Given the description of an element on the screen output the (x, y) to click on. 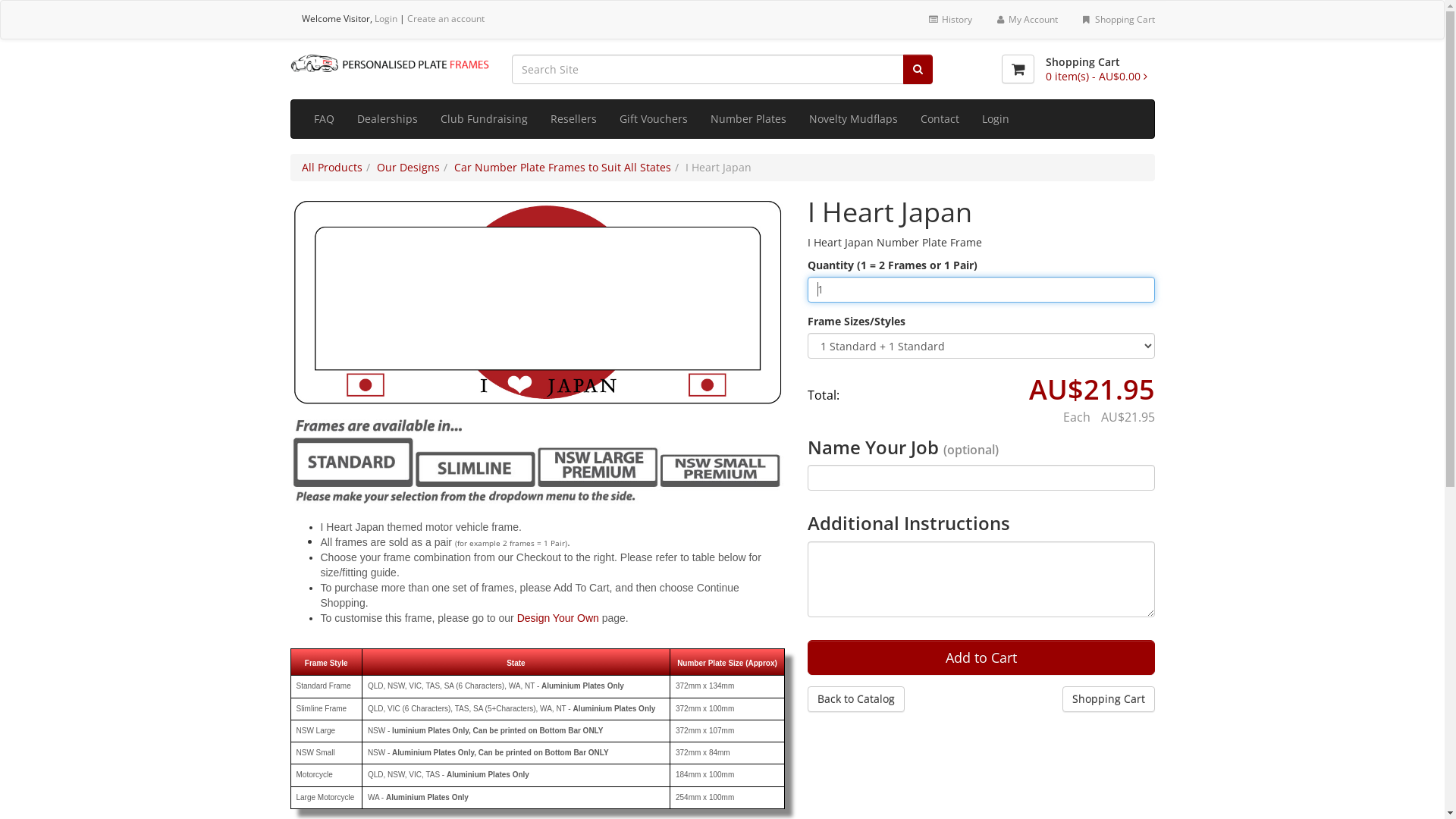
My Account Element type: text (1026, 19)
Back to Catalog Element type: text (855, 699)
Number Plates Element type: text (748, 119)
Shopping Cart Element type: text (1117, 19)
Contact Element type: text (938, 119)
Car Number Plate Frames to Suit All States Element type: text (561, 167)
History Element type: text (949, 19)
Gift Vouchers Element type: text (653, 119)
All Products Element type: text (331, 167)
Our Designs Element type: text (407, 167)
Design Your Own Element type: text (558, 617)
Novelty Mudflaps Element type: text (853, 119)
Shopping Cart Element type: text (1107, 699)
Club Fundraising Element type: text (484, 119)
FAQ Element type: text (323, 119)
Dealerships Element type: text (387, 119)
Add to Cart Element type: text (980, 657)
Create an account Element type: text (444, 18)
Login Element type: text (385, 18)
Resellers Element type: text (572, 119)
Login Element type: text (995, 119)
0 item(s) - AU$0.00 Element type: text (1095, 76)
